Given the description of an element on the screen output the (x, y) to click on. 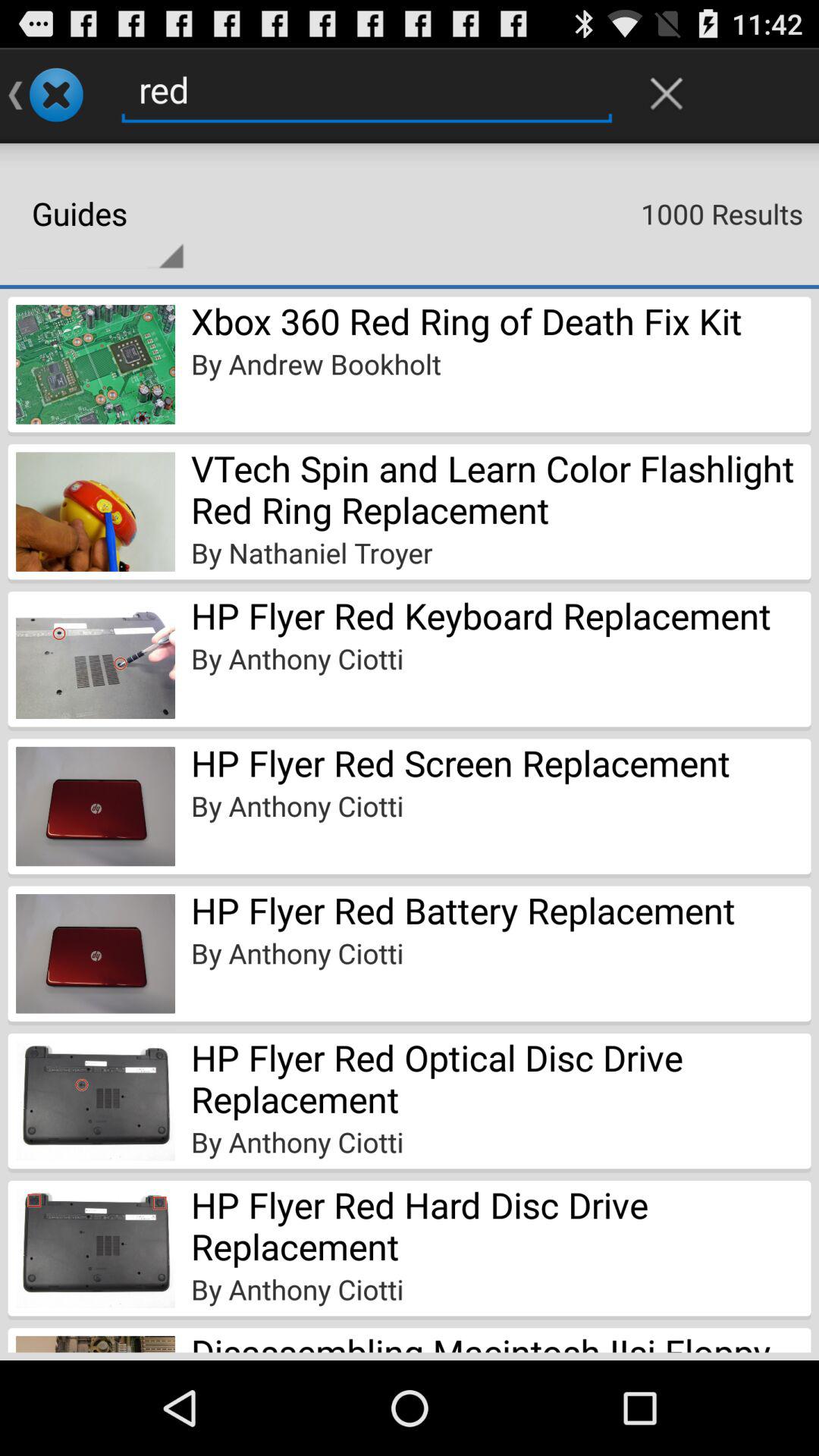
click the disassembling macintosh iisi app (501, 1340)
